Given the description of an element on the screen output the (x, y) to click on. 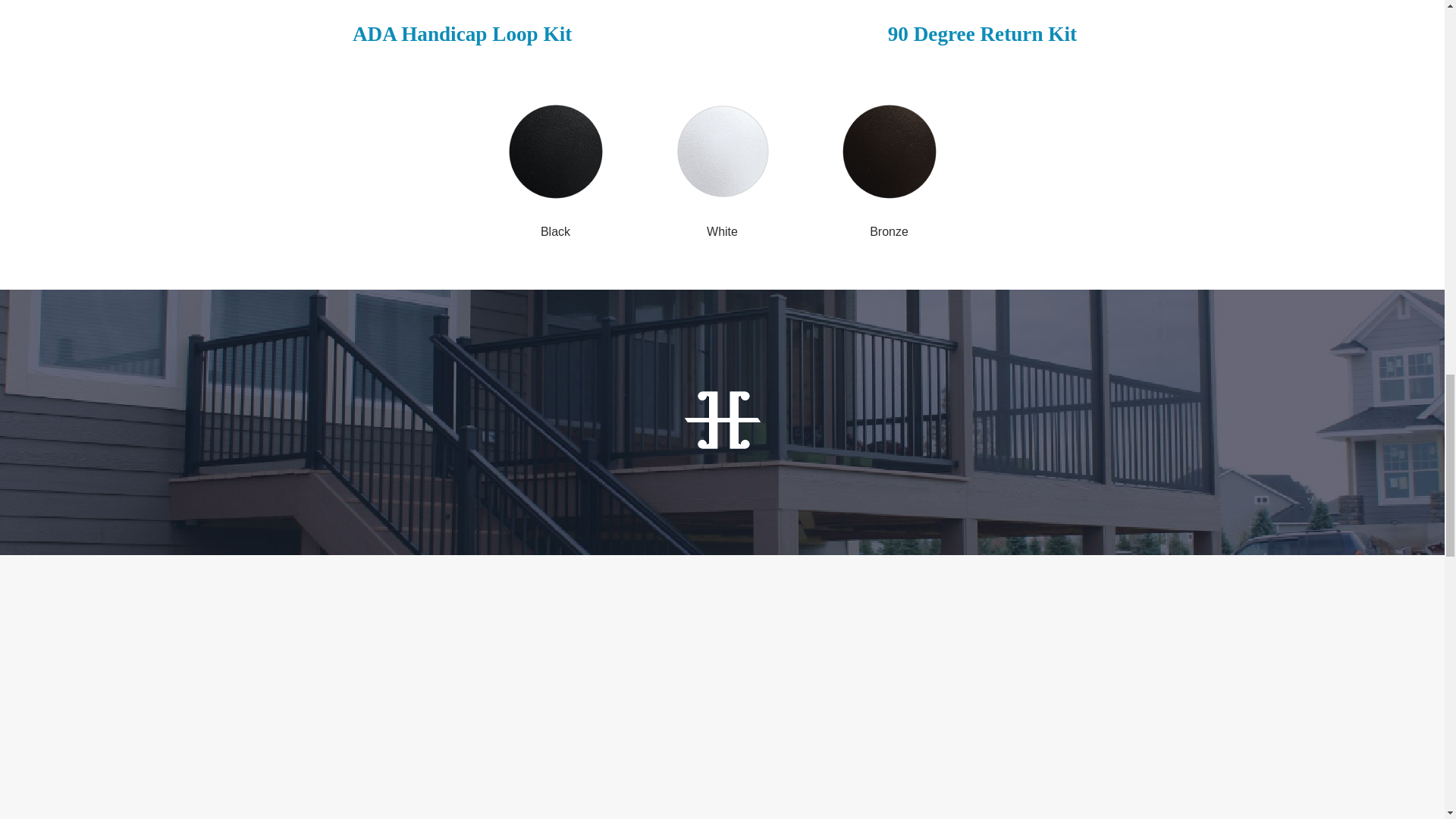
White Color Sample - White (721, 151)
Black Color Sample - Black (555, 151)
Bronze Color Sample - Bronze (888, 151)
